Given the description of an element on the screen output the (x, y) to click on. 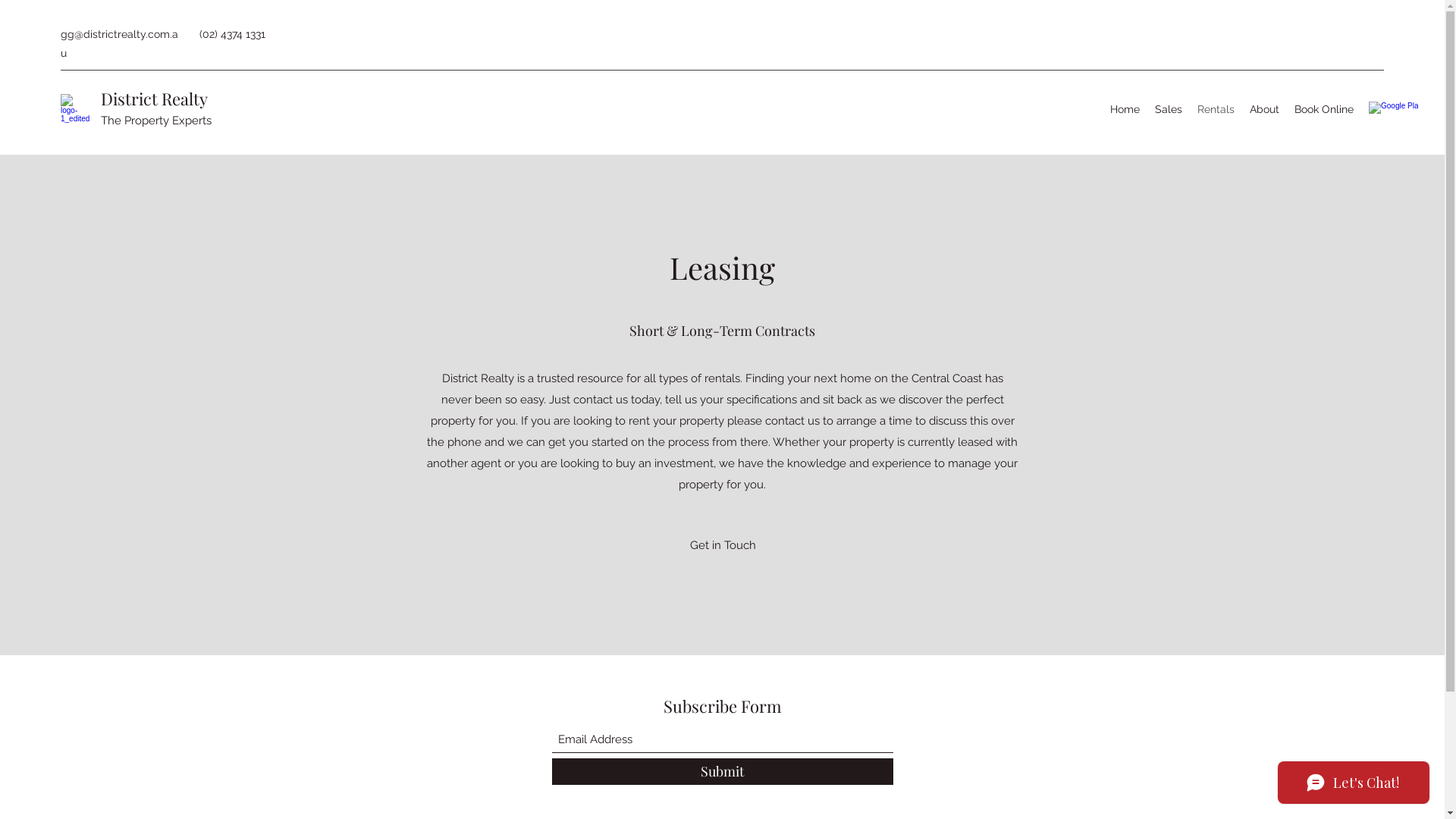
About Element type: text (1264, 108)
District Realty Element type: text (153, 98)
Rentals Element type: text (1215, 108)
gg@districtrealty.com.au Element type: text (119, 43)
Home Element type: text (1124, 108)
Book Online Element type: text (1323, 108)
Submit Element type: text (722, 771)
Sales Element type: text (1168, 108)
Get in Touch Element type: text (723, 544)
